Given the description of an element on the screen output the (x, y) to click on. 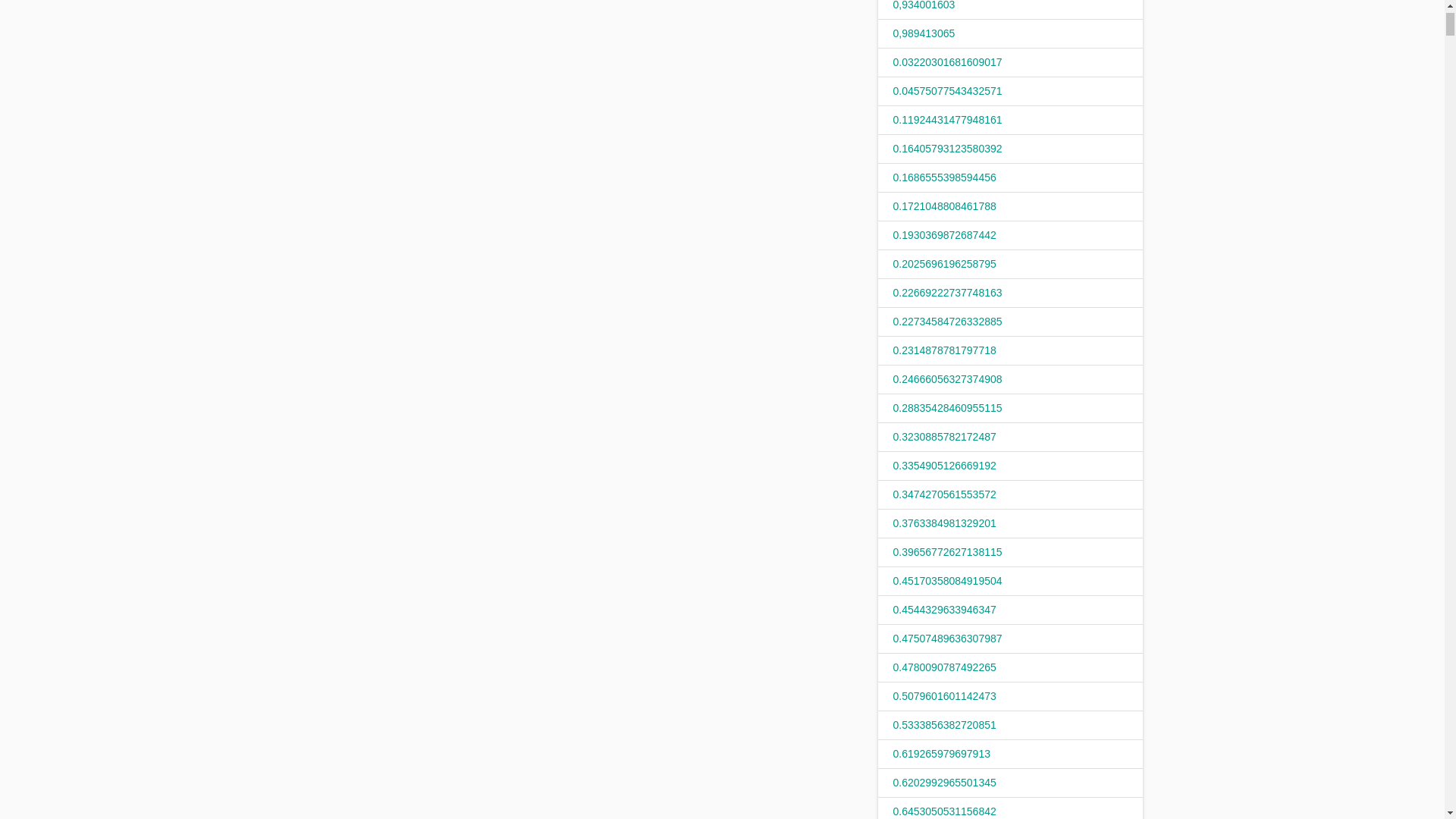
0.11924431477948161 (948, 119)
0.1686555398594456 (944, 177)
0.16405793123580392 (948, 148)
0,934001603 (924, 5)
0.04575077543432571 (948, 91)
0.03220301681609017 (948, 61)
0,989413065 (924, 33)
